Given the description of an element on the screen output the (x, y) to click on. 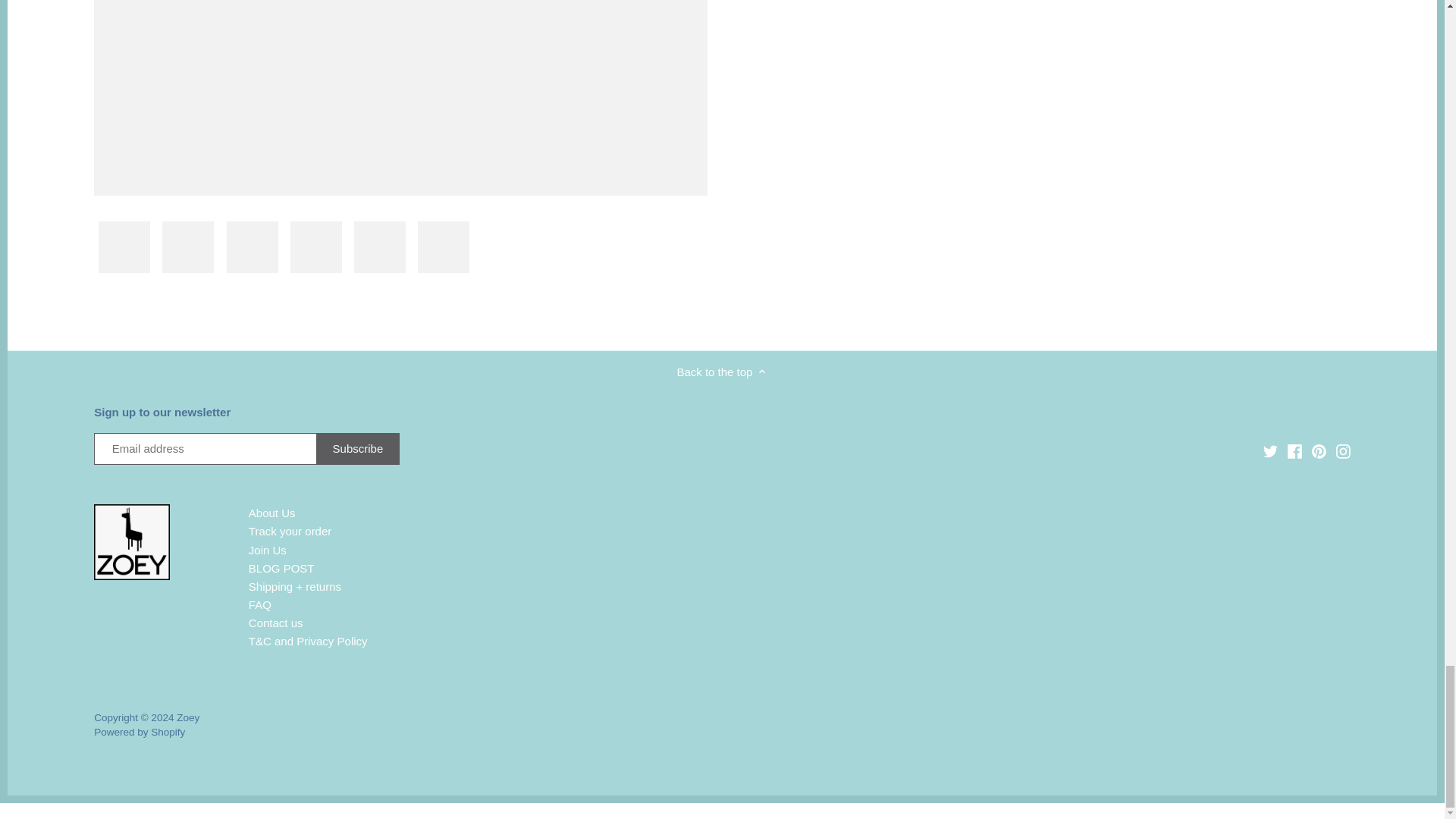
Subscribe (357, 449)
Facebook (1294, 451)
Pinterest (1318, 450)
Twitter (1270, 450)
Pinterest (1318, 451)
Instagram (1342, 451)
Twitter (1269, 451)
Facebook (1294, 450)
